Given the description of an element on the screen output the (x, y) to click on. 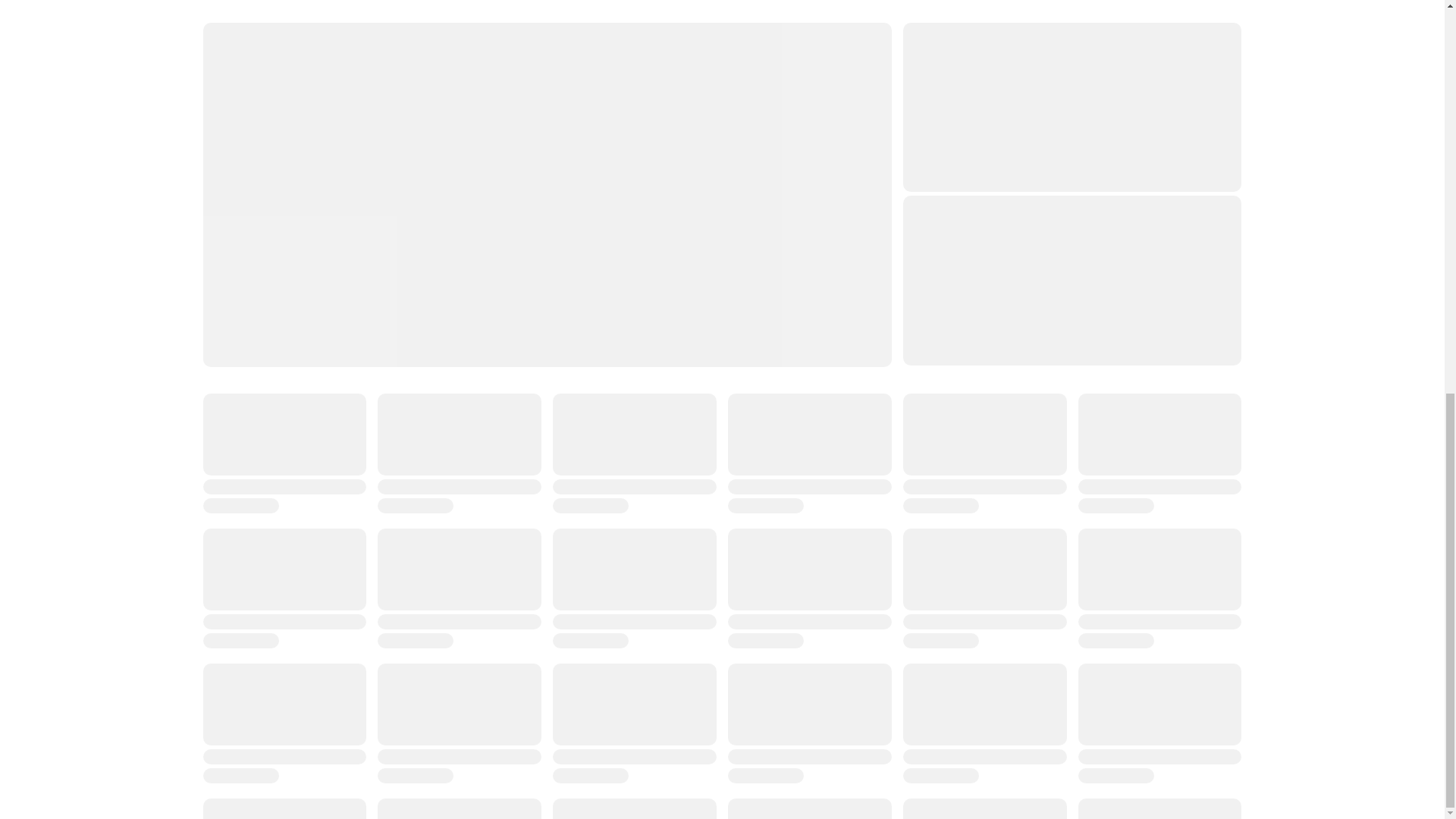
FAQs (217, 553)
Blog (214, 576)
Shipping Policy and Tax (788, 506)
Home (217, 483)
Return Policy (761, 530)
Terms Of Service (771, 622)
About us (225, 506)
Order Change And Cancellation (545, 599)
Community Guidelines (522, 576)
Order Tracking (502, 530)
